Given the description of an element on the screen output the (x, y) to click on. 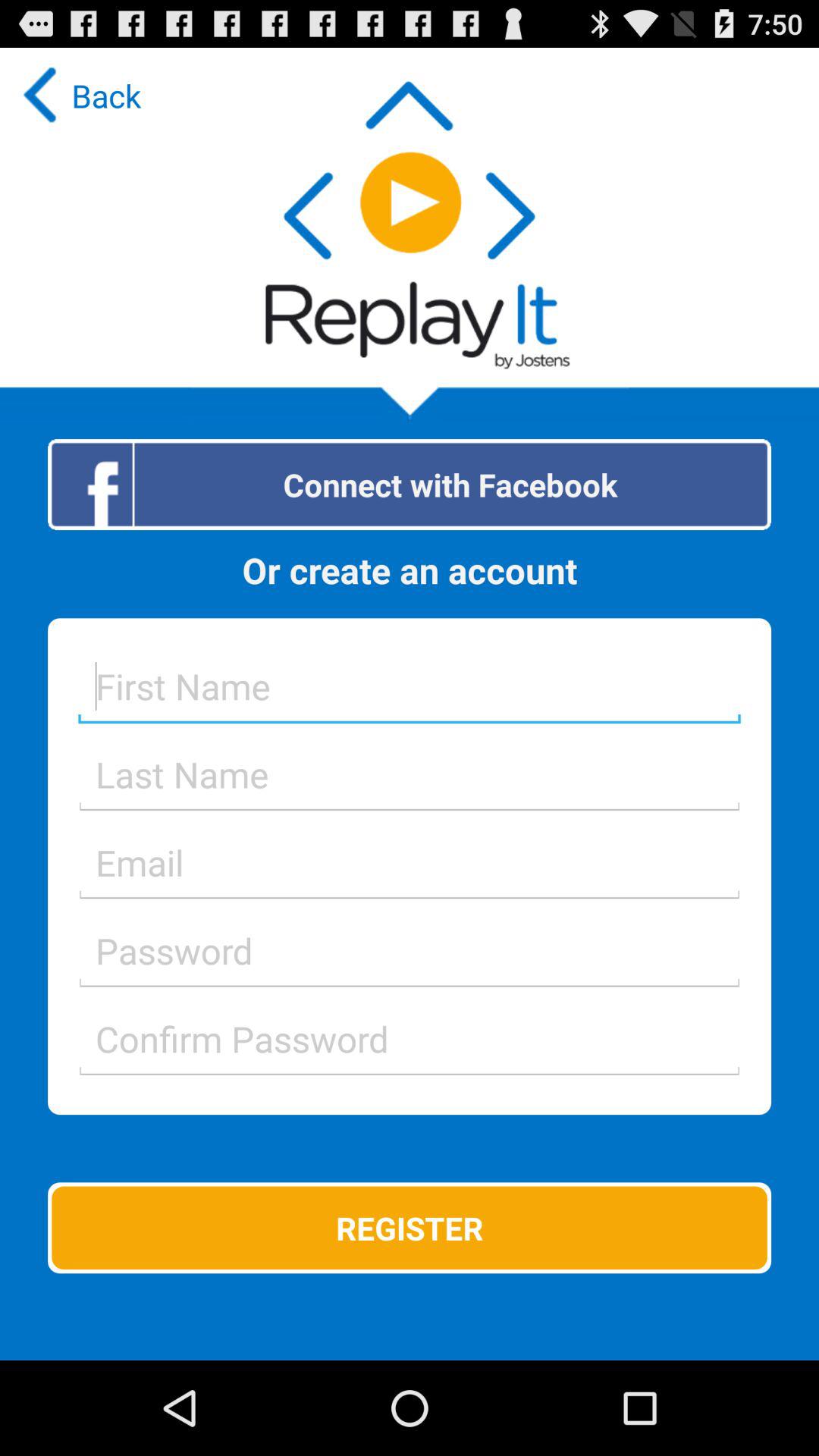
enter text into field (409, 1038)
